Given the description of an element on the screen output the (x, y) to click on. 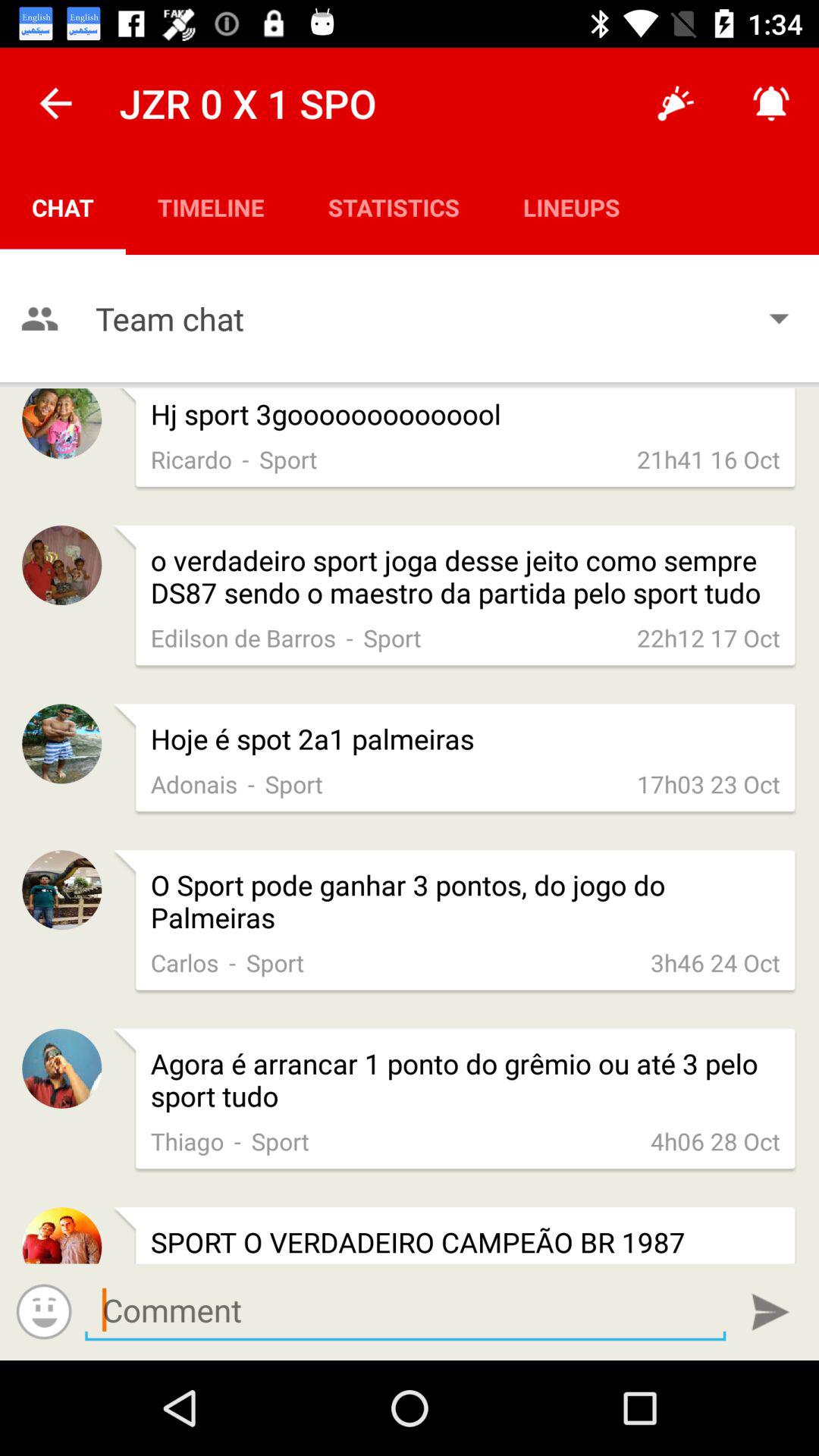
adds a smiley face to my comment (44, 1311)
